Given the description of an element on the screen output the (x, y) to click on. 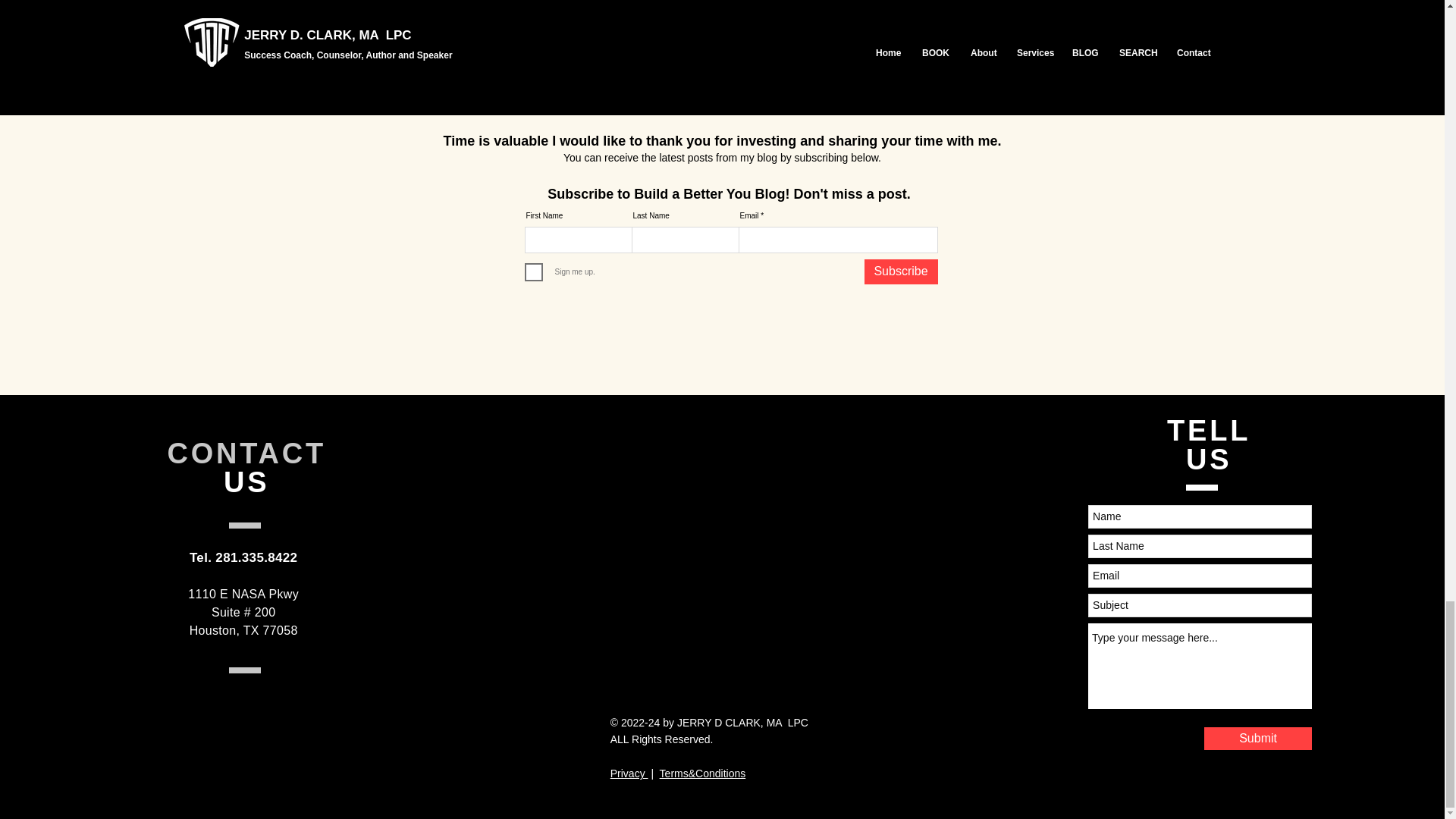
20 (606, 36)
19 (574, 36)
